Given the description of an element on the screen output the (x, y) to click on. 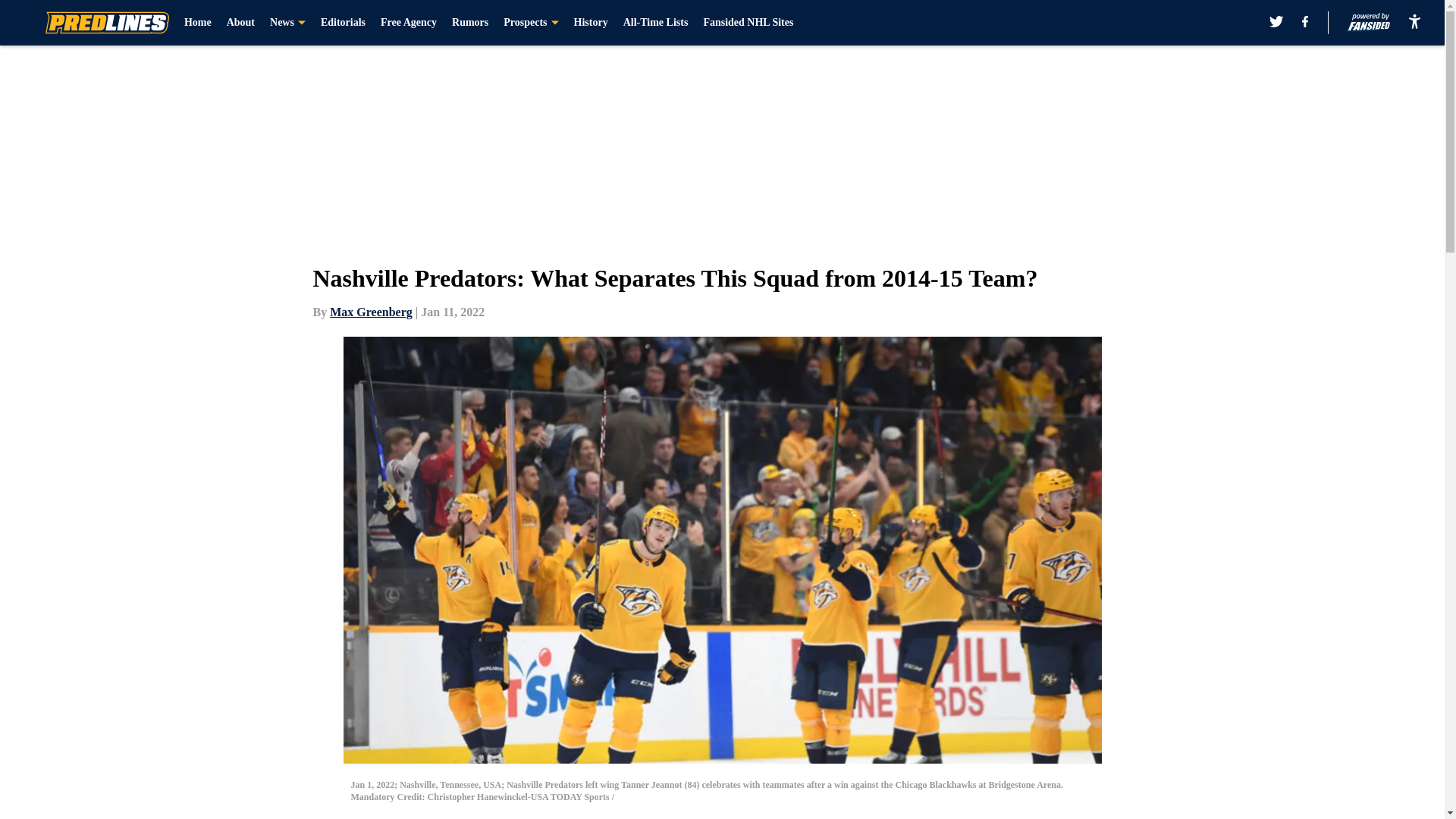
Free Agency (408, 22)
Home (197, 22)
History (590, 22)
Max Greenberg (371, 311)
About (240, 22)
Editorials (342, 22)
Fansided NHL Sites (748, 22)
All-Time Lists (655, 22)
Rumors (469, 22)
